Given the description of an element on the screen output the (x, y) to click on. 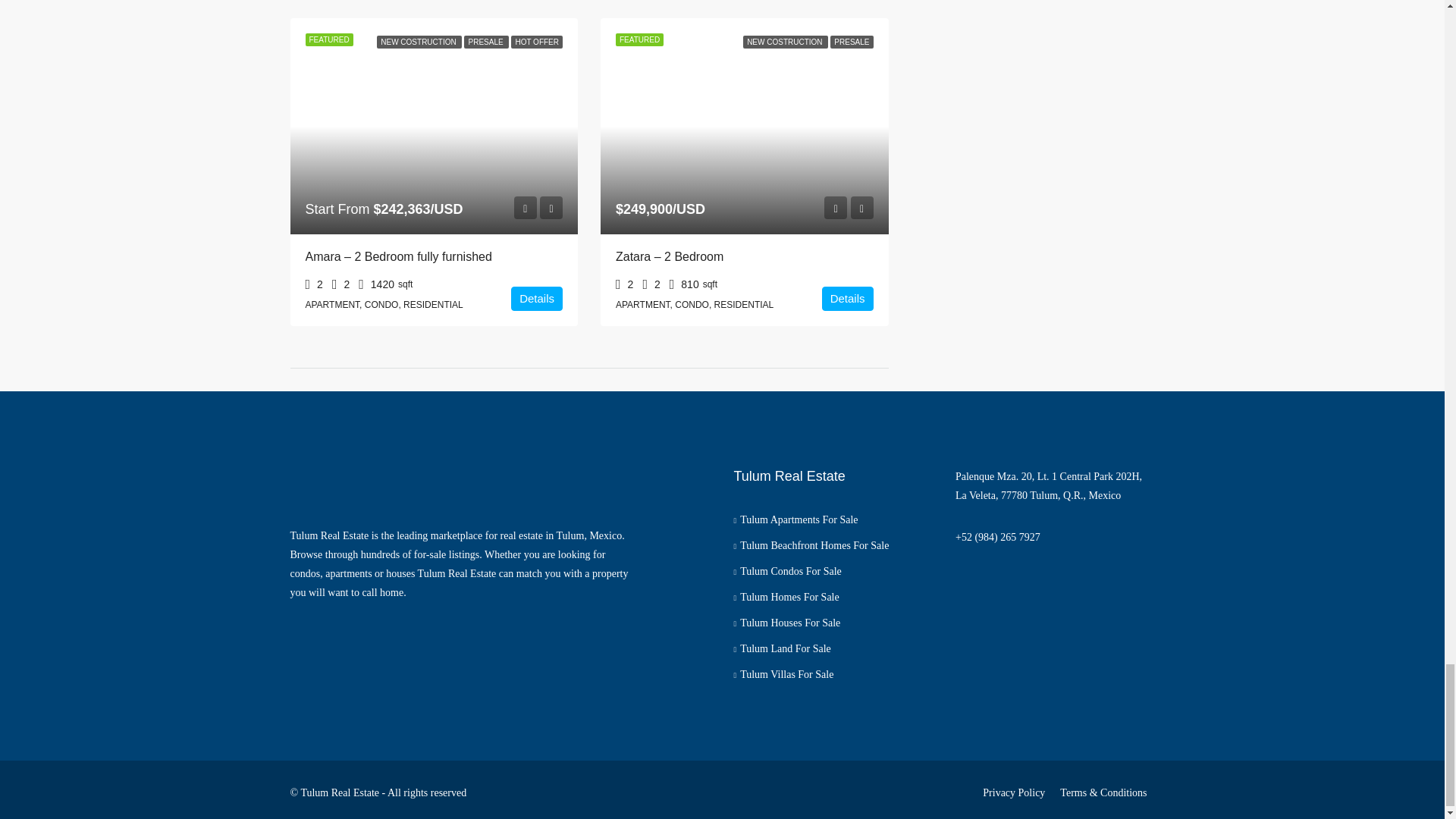
Preview (525, 207)
Add to Compare (861, 207)
Add to Compare (551, 207)
Preview (835, 207)
